Given the description of an element on the screen output the (x, y) to click on. 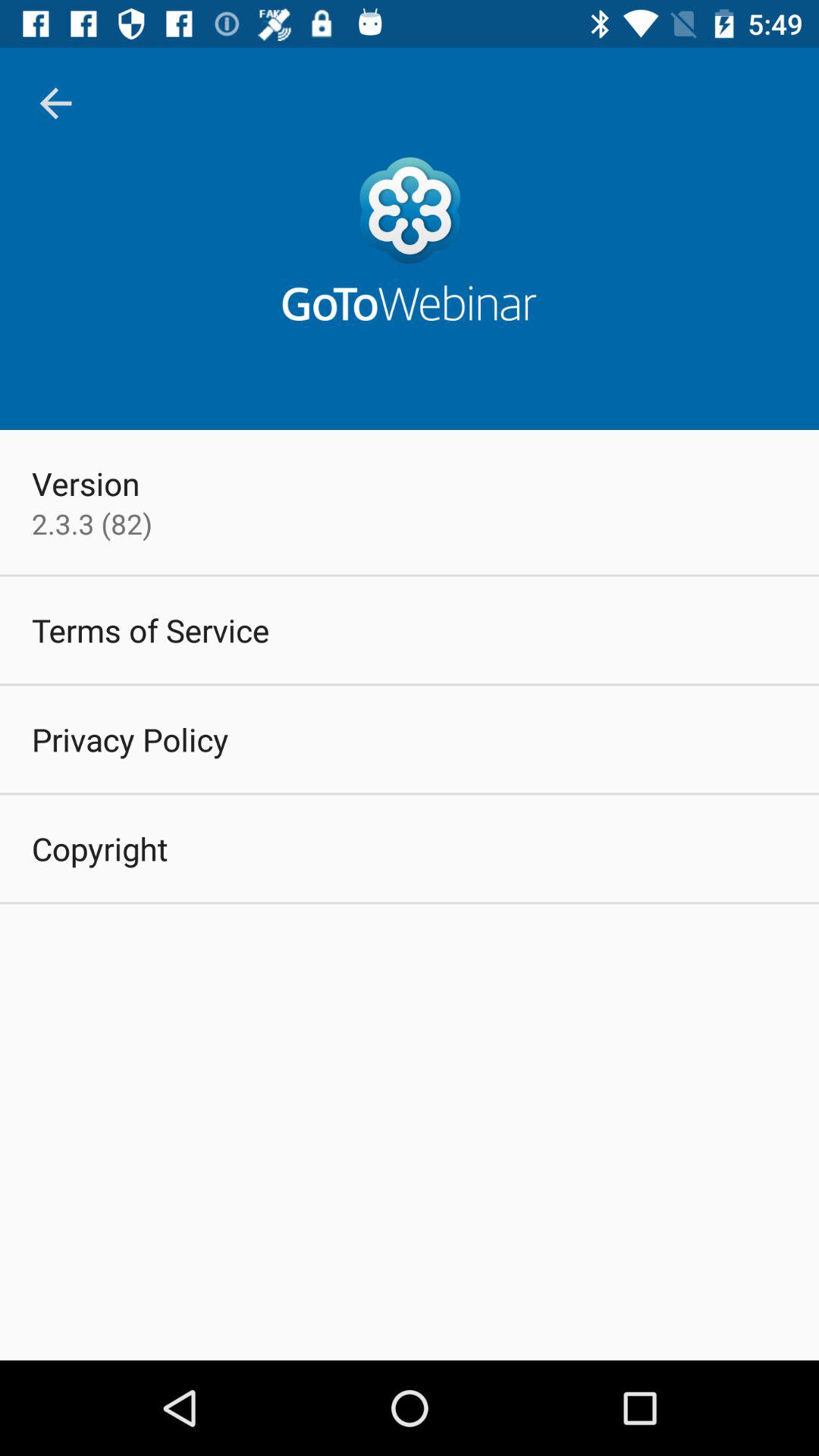
flip to version item (85, 483)
